Given the description of an element on the screen output the (x, y) to click on. 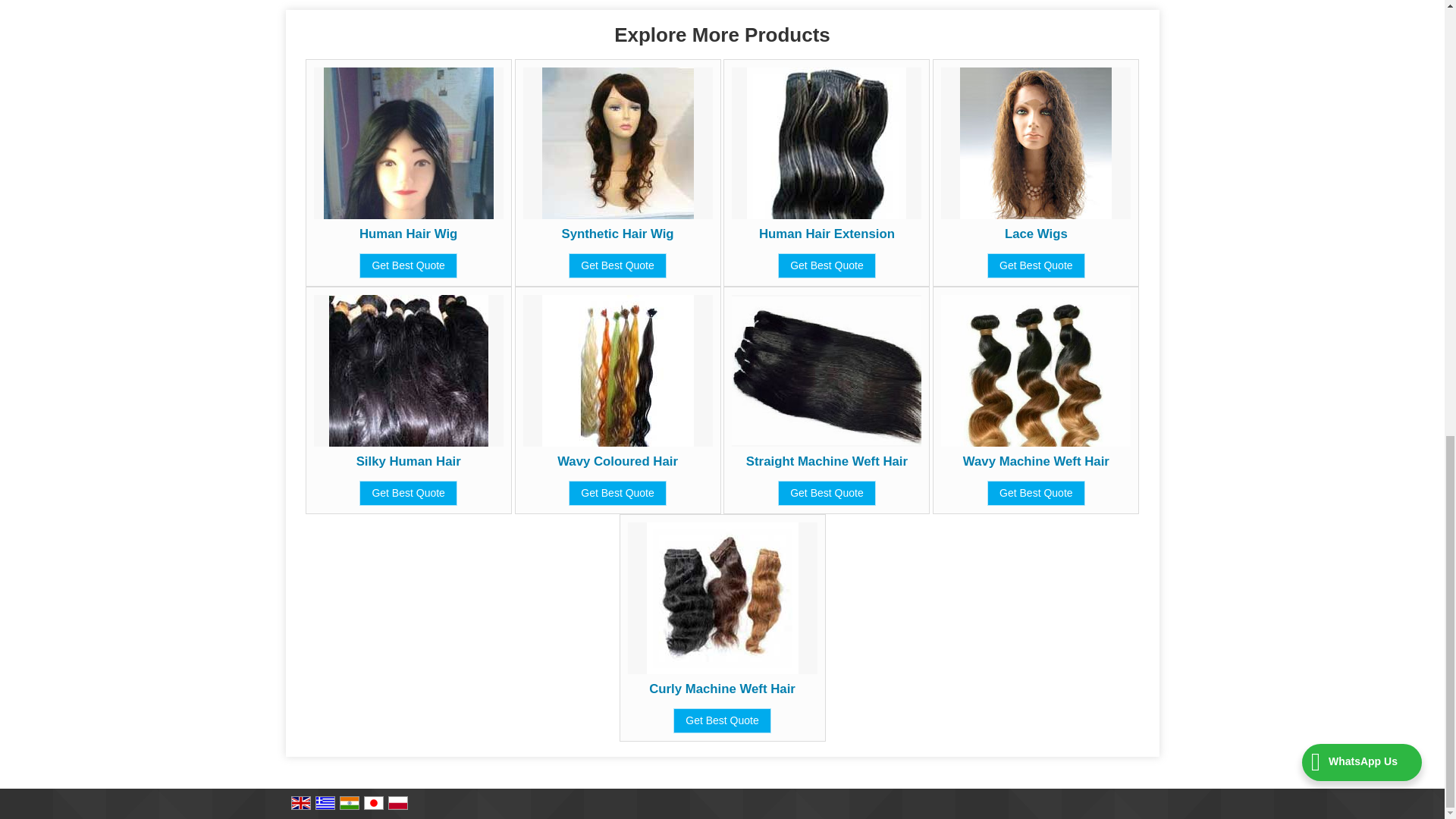
Human Hair Extension (826, 233)
Synthetic Hair Wig (616, 233)
Get Best Quote (1035, 265)
Get Best Quote (617, 265)
Get Best Quote (826, 265)
Human Hair Wig (408, 233)
Get Best Quote (408, 265)
Lace Wigs (1035, 233)
